Given the description of an element on the screen output the (x, y) to click on. 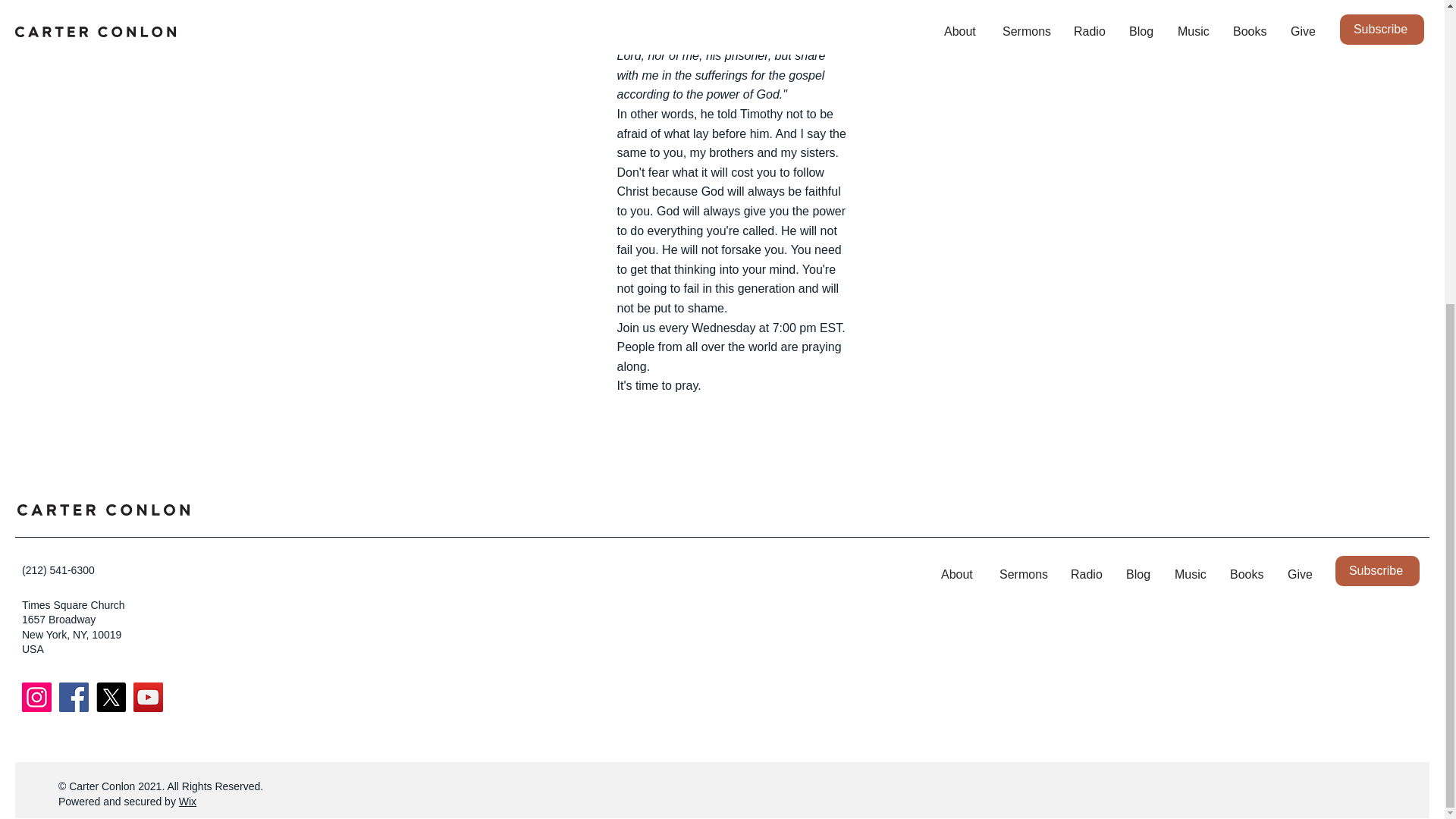
Give (1299, 574)
About (959, 574)
Subscribe (1377, 571)
Radio (1087, 574)
Sermons (1023, 574)
Books (1247, 574)
Blog (1139, 574)
Wix (187, 801)
Music (1190, 574)
